Given the description of an element on the screen output the (x, y) to click on. 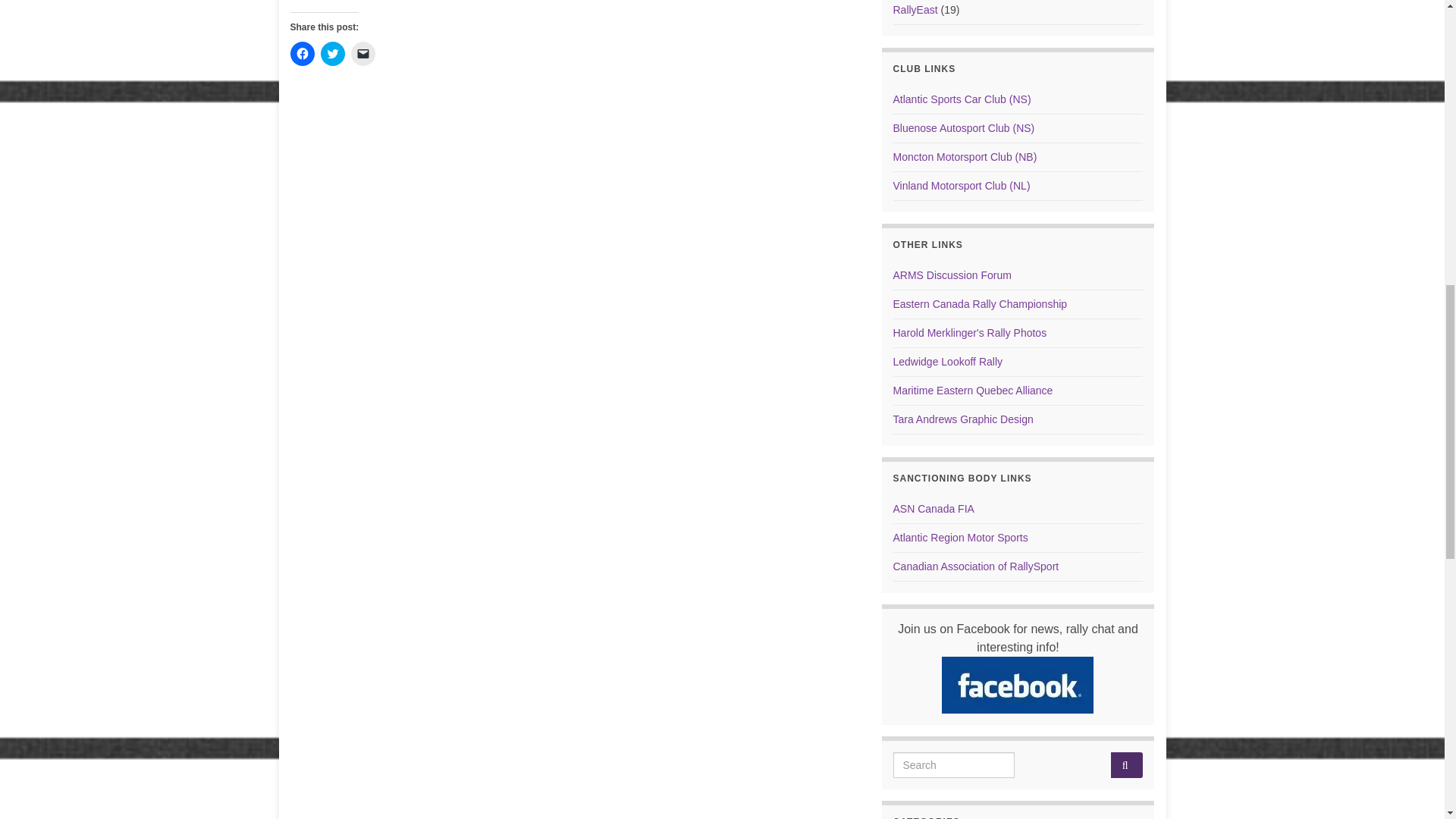
RallyEast (915, 9)
Designer of the Rally East Logos! (963, 419)
Click to email a link to a friend (362, 53)
Click to share on Facebook (301, 53)
Click to share on Twitter (331, 53)
Photos from ARMS Rally Events by Harold Merklinger (969, 332)
